Given the description of an element on the screen output the (x, y) to click on. 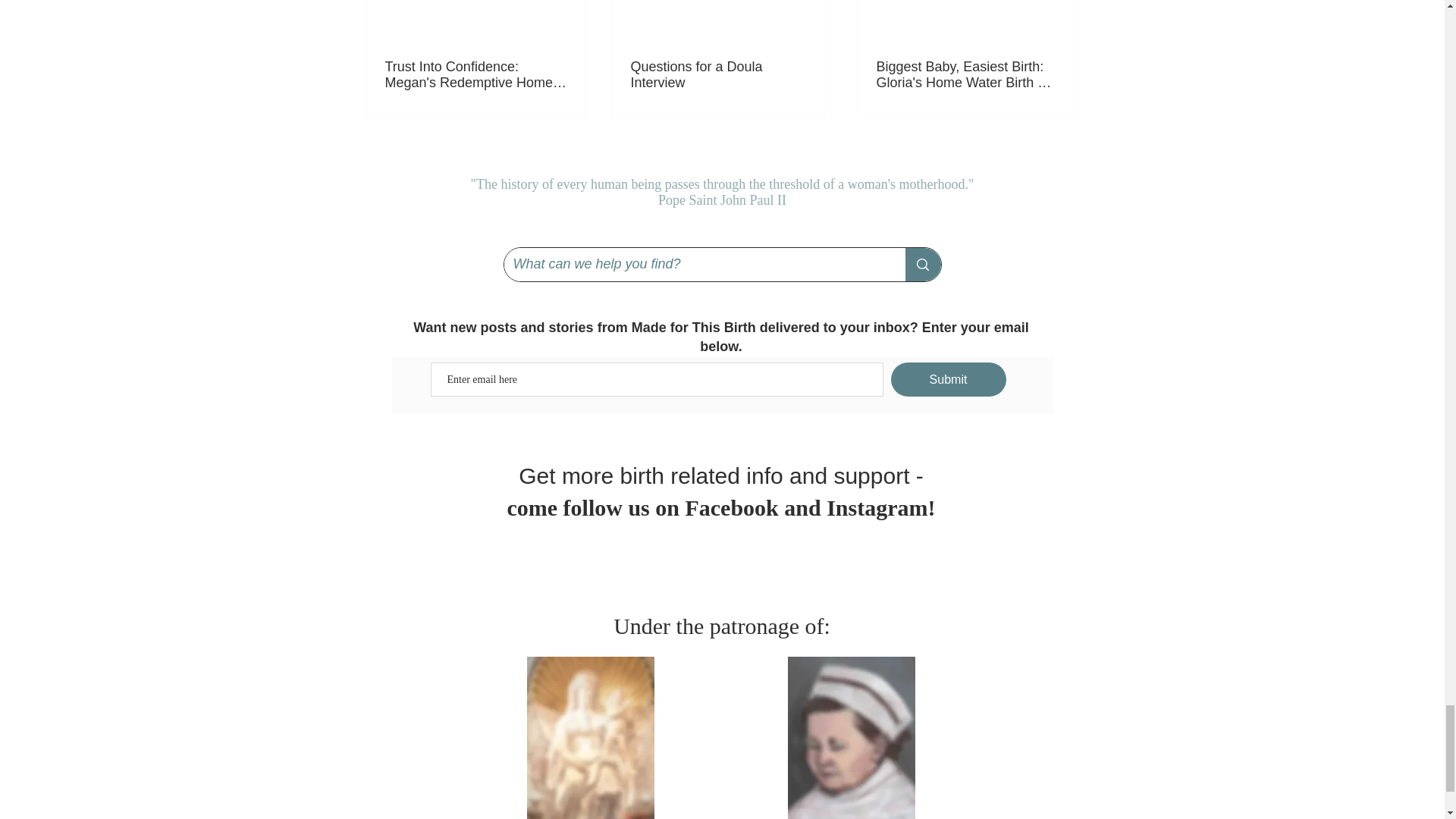
Questions for a Doula Interview (721, 74)
Submit (947, 379)
